Given the description of an element on the screen output the (x, y) to click on. 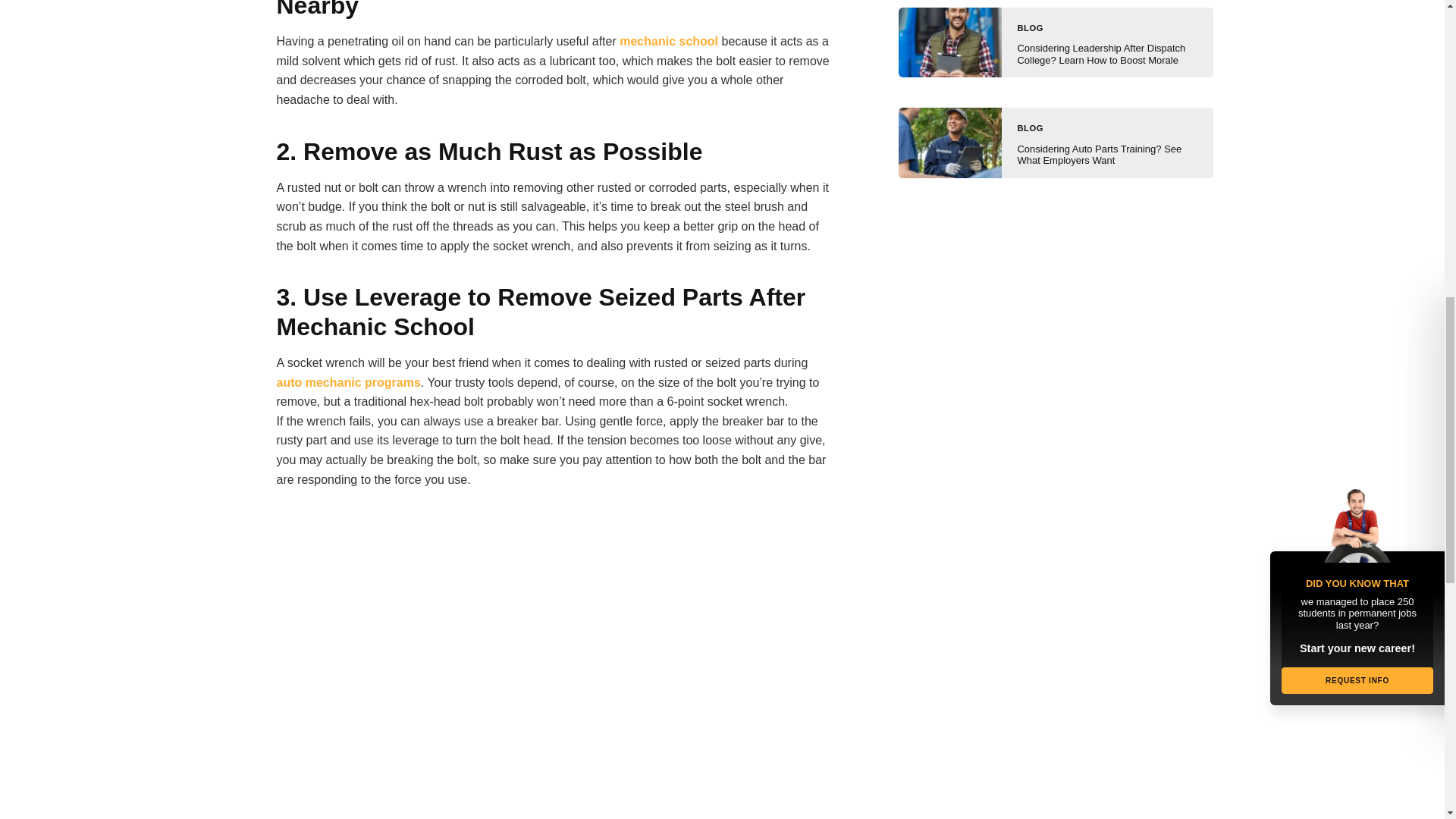
auto mechanic programs (348, 382)
mechanic school (668, 41)
